Given the description of an element on the screen output the (x, y) to click on. 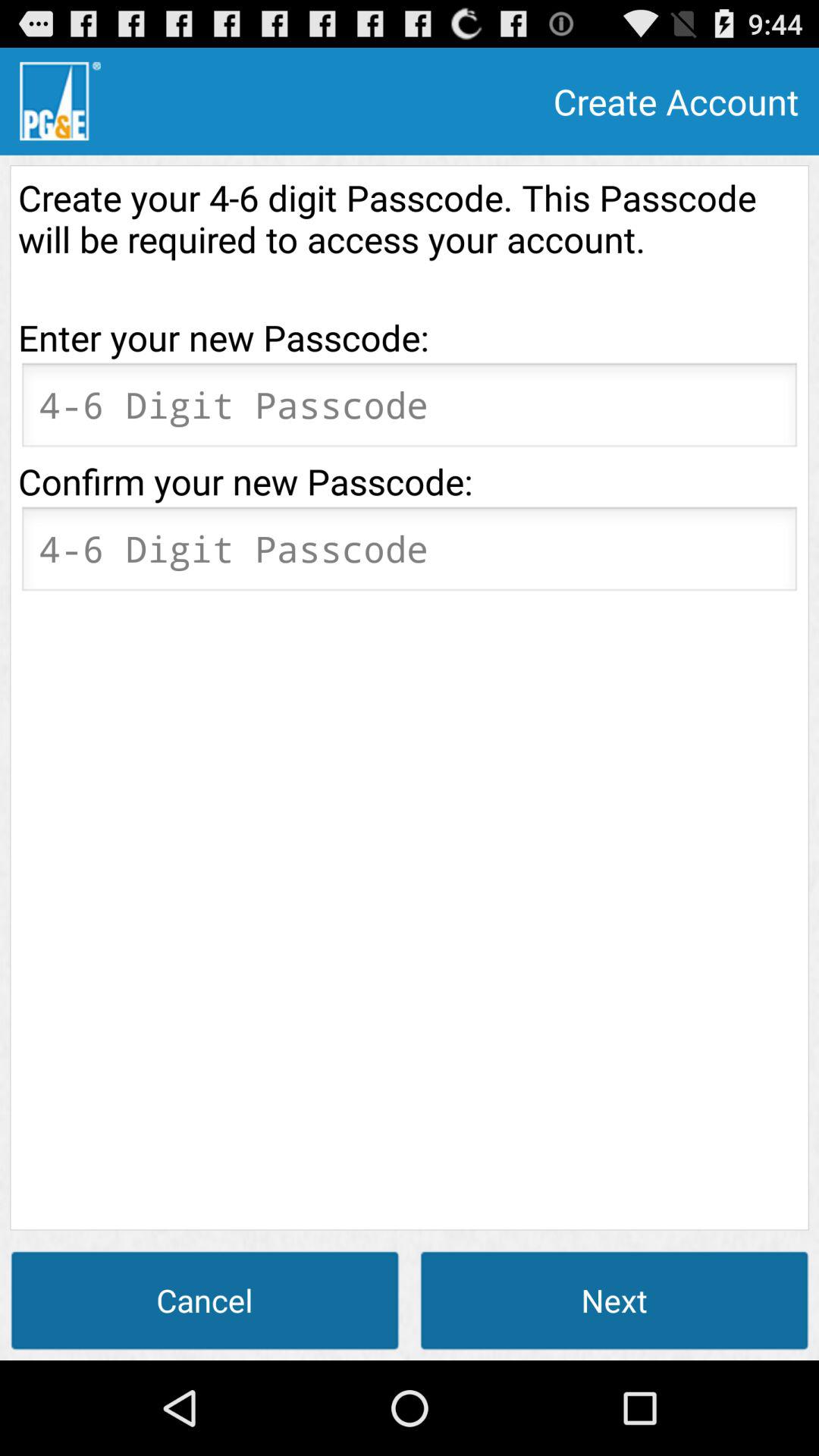
enter new password (409, 409)
